Given the description of an element on the screen output the (x, y) to click on. 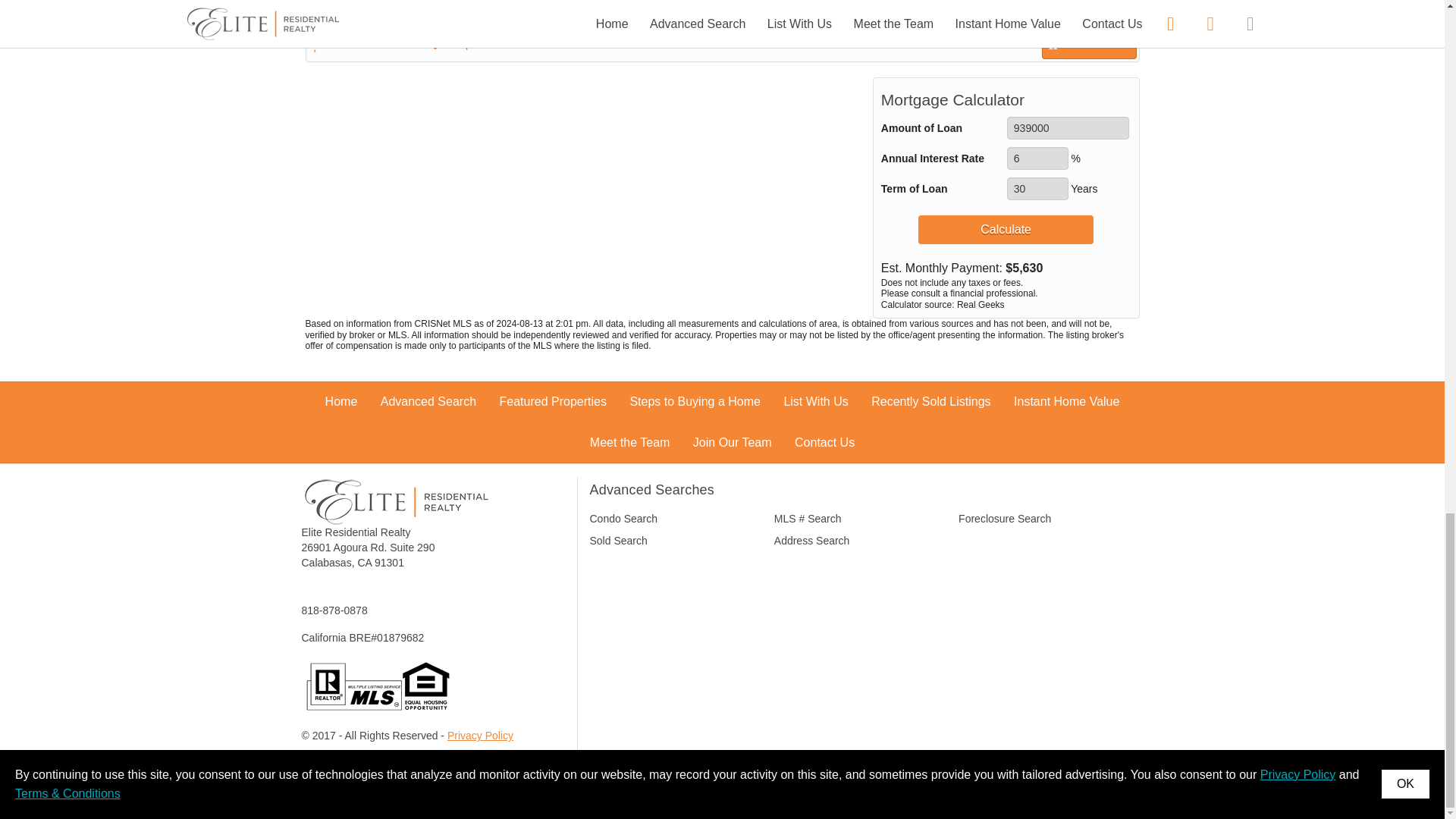
939000 (1068, 128)
6 (1037, 158)
30 (1037, 188)
